Given the description of an element on the screen output the (x, y) to click on. 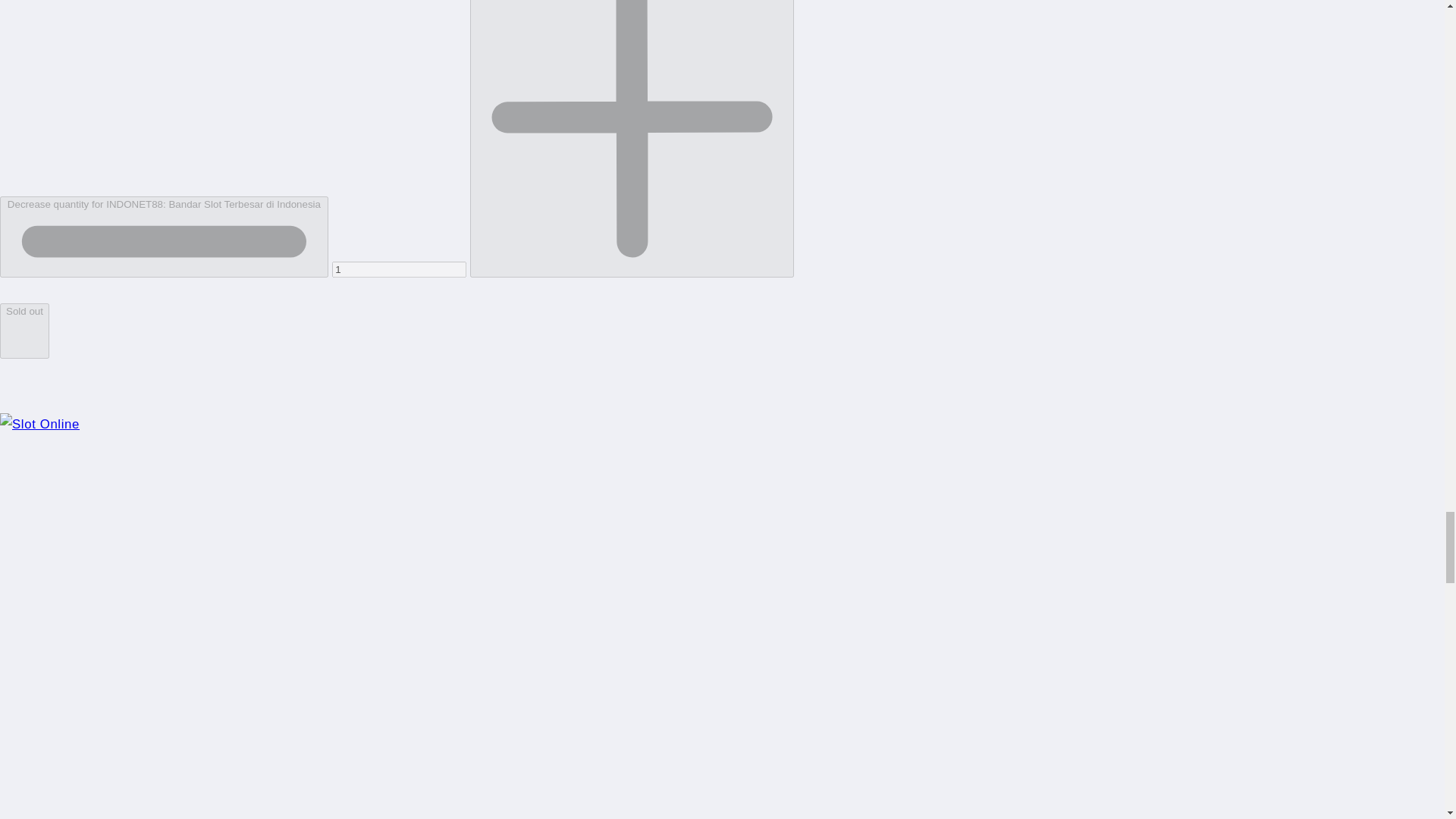
1 (398, 269)
Sold out (24, 330)
